Given the description of an element on the screen output the (x, y) to click on. 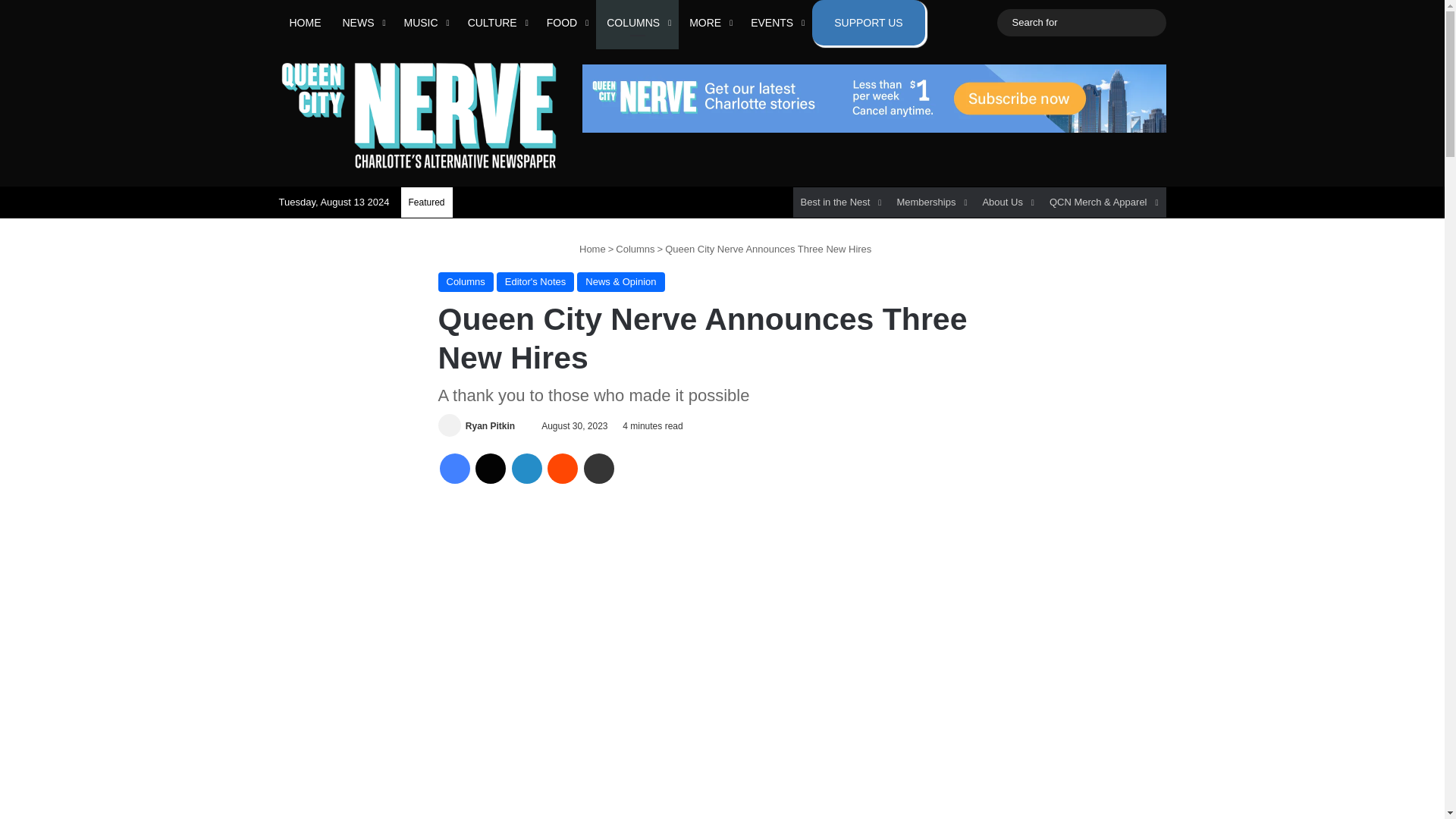
NEWS (362, 22)
Search for (1080, 22)
X (490, 468)
Queen City Nerve (419, 115)
HOME (305, 22)
LinkedIn (526, 468)
Share via Email (598, 468)
Reddit (562, 468)
Ryan Pitkin (490, 425)
MUSIC (425, 22)
